Given the description of an element on the screen output the (x, y) to click on. 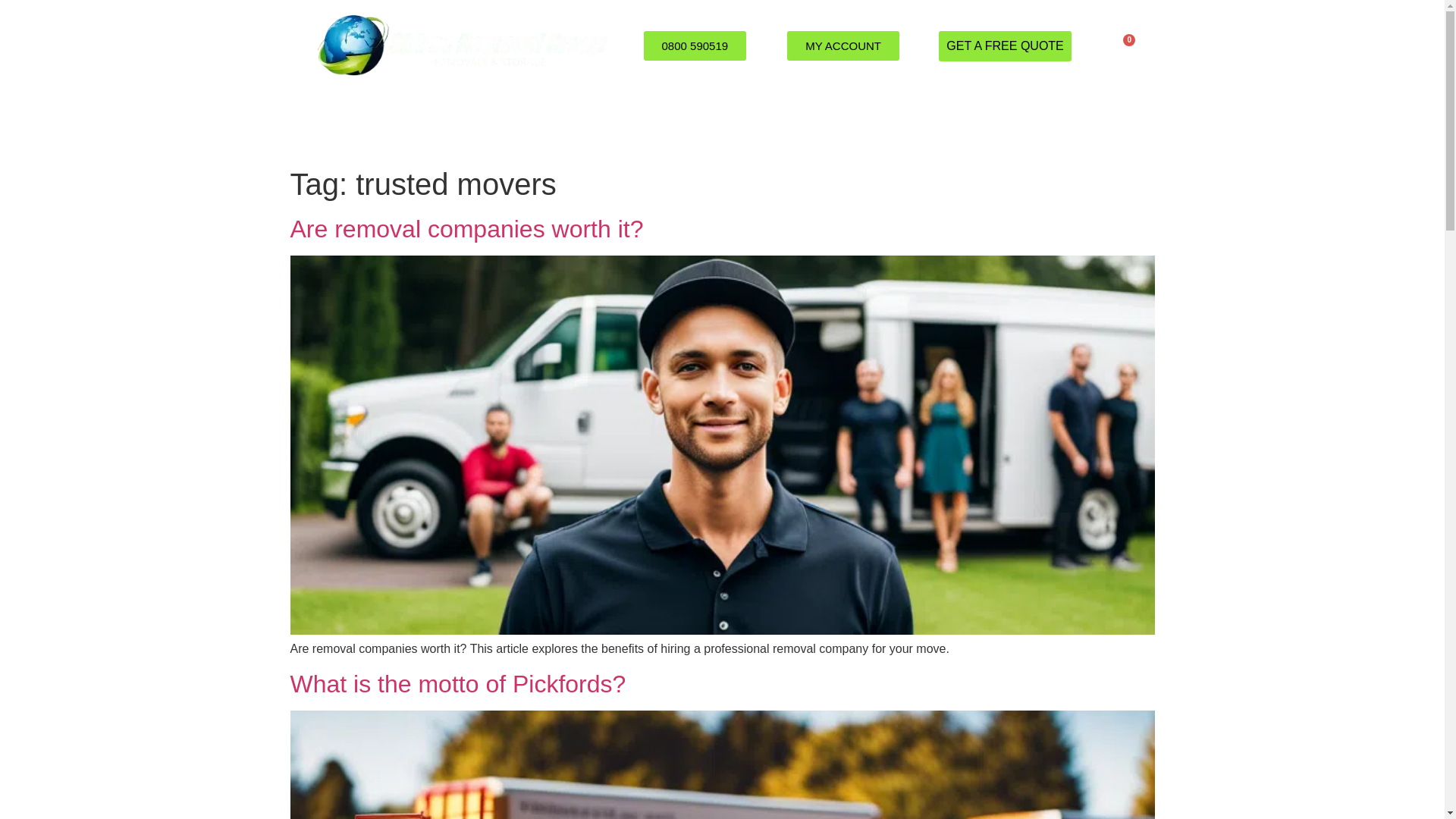
0800 590519 (694, 45)
Commercial Relocation (664, 125)
GET A FREE QUOTE (1004, 45)
Storage (790, 125)
Removals (400, 125)
Home (318, 125)
Packing Services (515, 125)
MY ACCOUNT (843, 45)
